Given the description of an element on the screen output the (x, y) to click on. 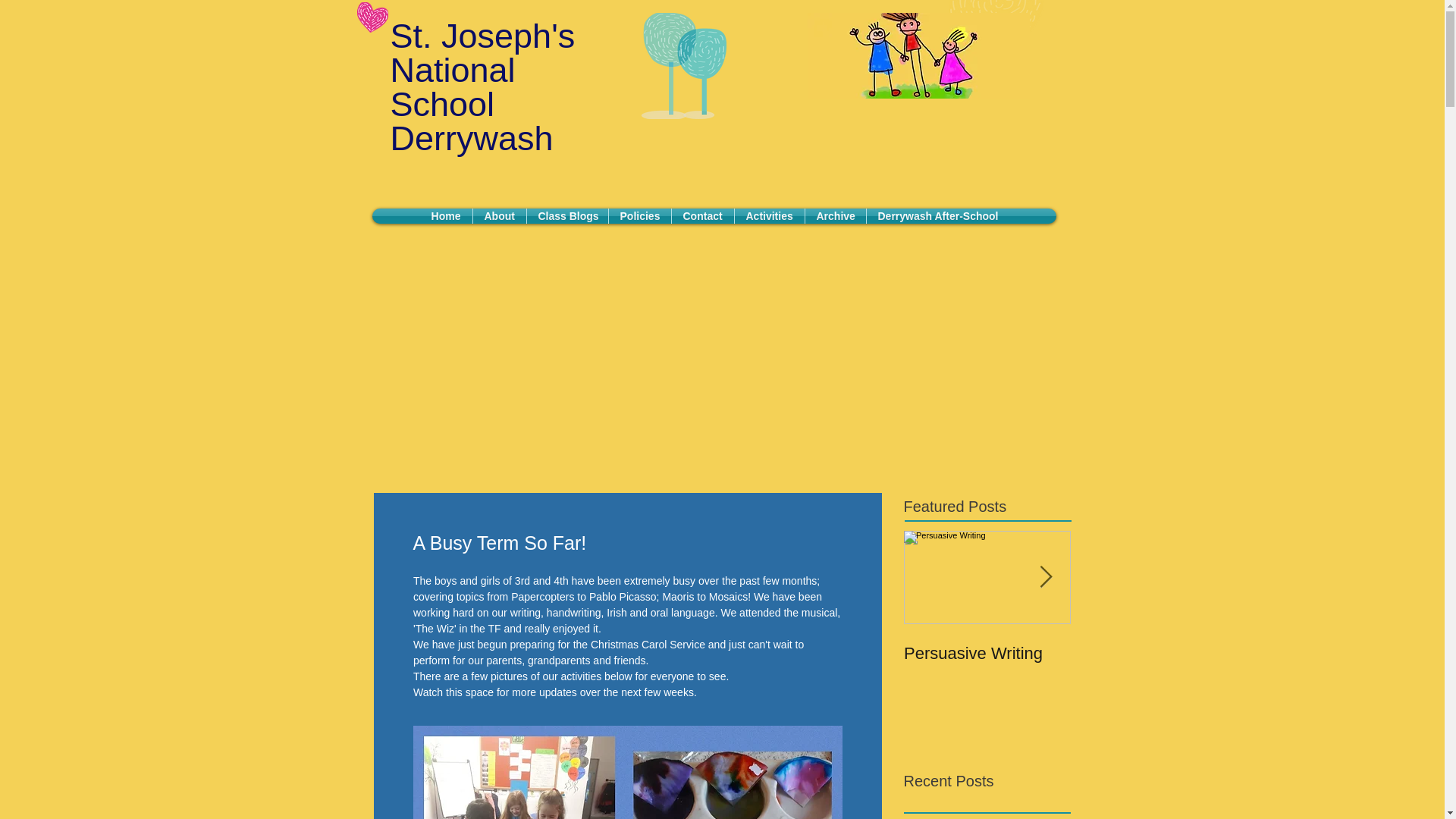
Home (445, 215)
Contact (702, 215)
Derrywash (471, 138)
Class Blogs (566, 215)
Activities (768, 215)
Derrywash After-School (936, 215)
Persuasive Writing (987, 653)
About (499, 215)
St. Joseph's National School  (482, 69)
Policies (638, 215)
